Given the description of an element on the screen output the (x, y) to click on. 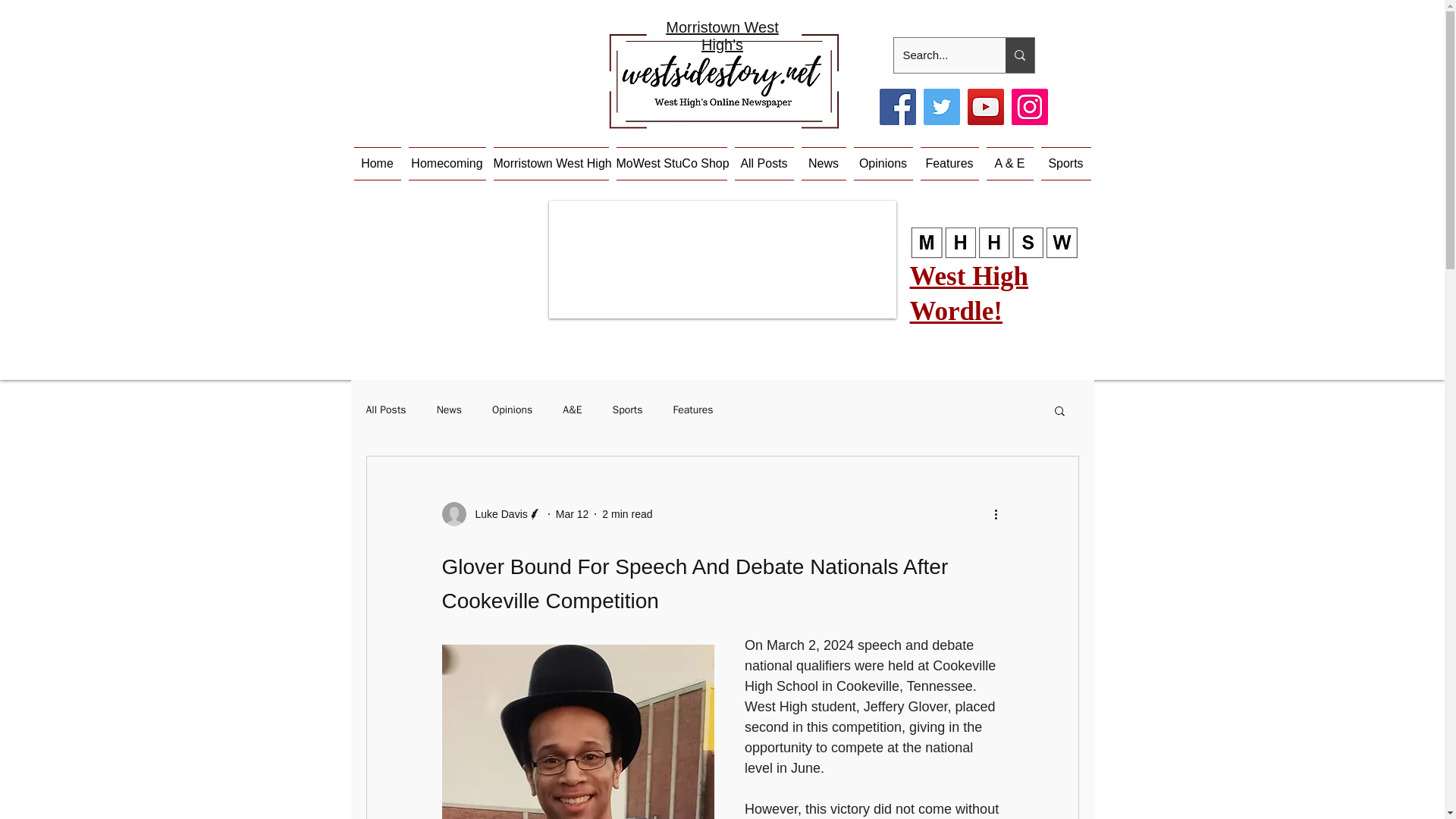
Morristown West High (550, 163)
Home (378, 163)
Homecoming (446, 163)
Luke Davis (496, 514)
Opinions (881, 163)
News (823, 163)
West High Wordle! (969, 293)
Morristown West High's (721, 35)
Mar 12 (572, 513)
All Posts (763, 163)
Features (692, 409)
Features (948, 163)
Luke Davis (491, 514)
2 min read (627, 513)
Sports (1063, 163)
